Given the description of an element on the screen output the (x, y) to click on. 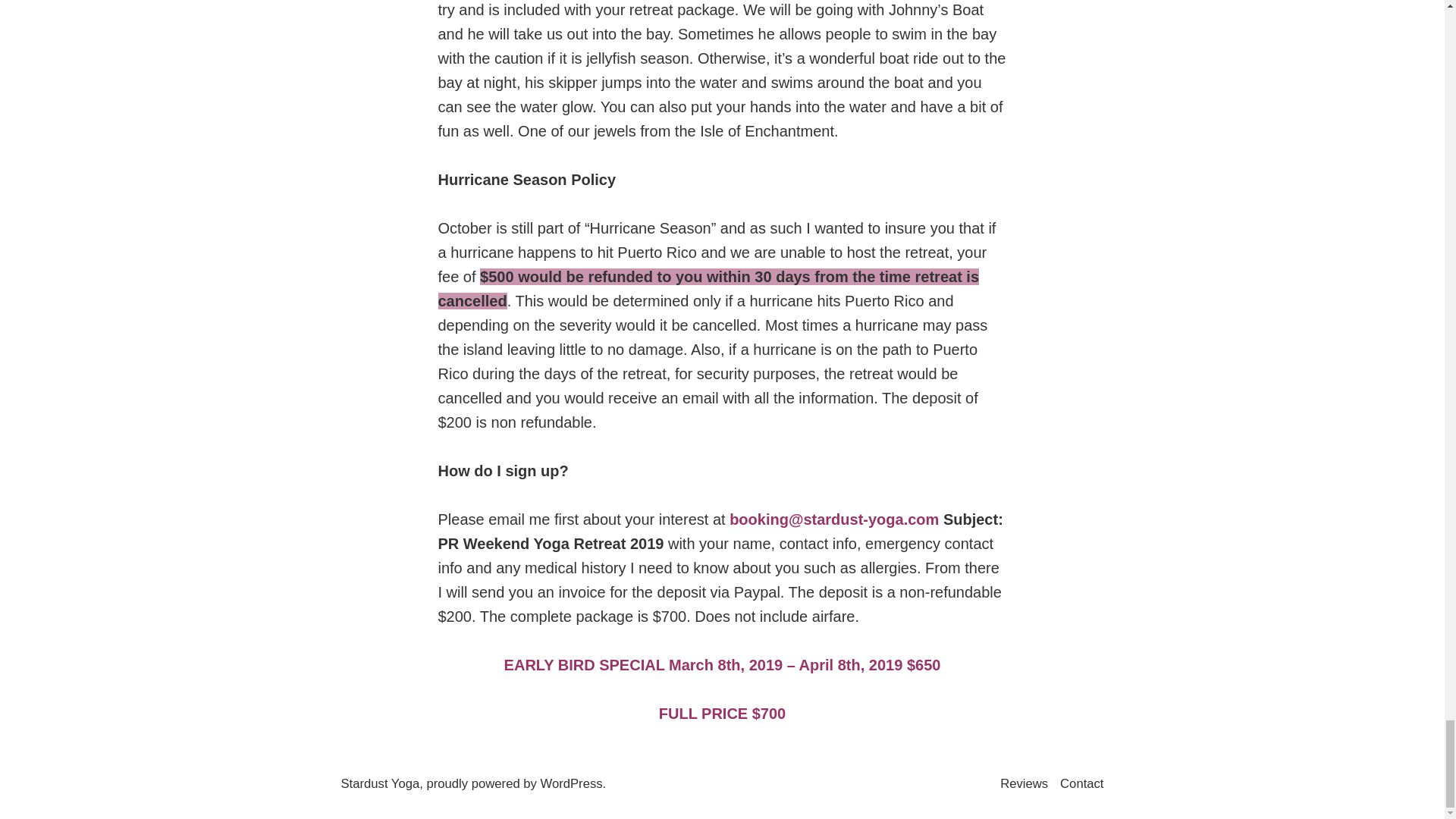
Reviews (1027, 783)
Contact (1081, 783)
Stardust Yoga (380, 783)
proudly powered by WordPress. (516, 783)
